Given the description of an element on the screen output the (x, y) to click on. 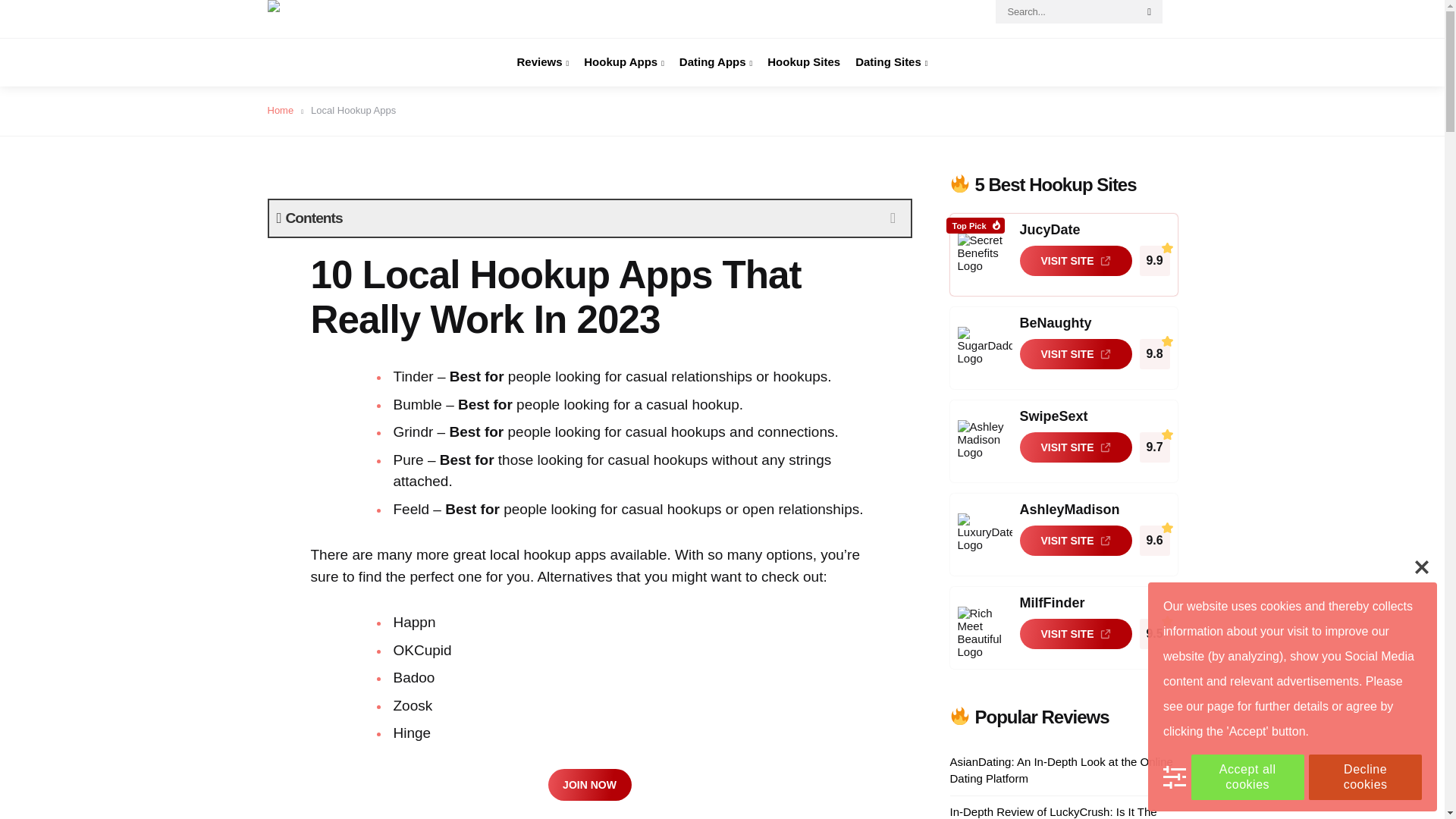
Search (1149, 11)
Manage cookie settings (1174, 776)
